Given the description of an element on the screen output the (x, y) to click on. 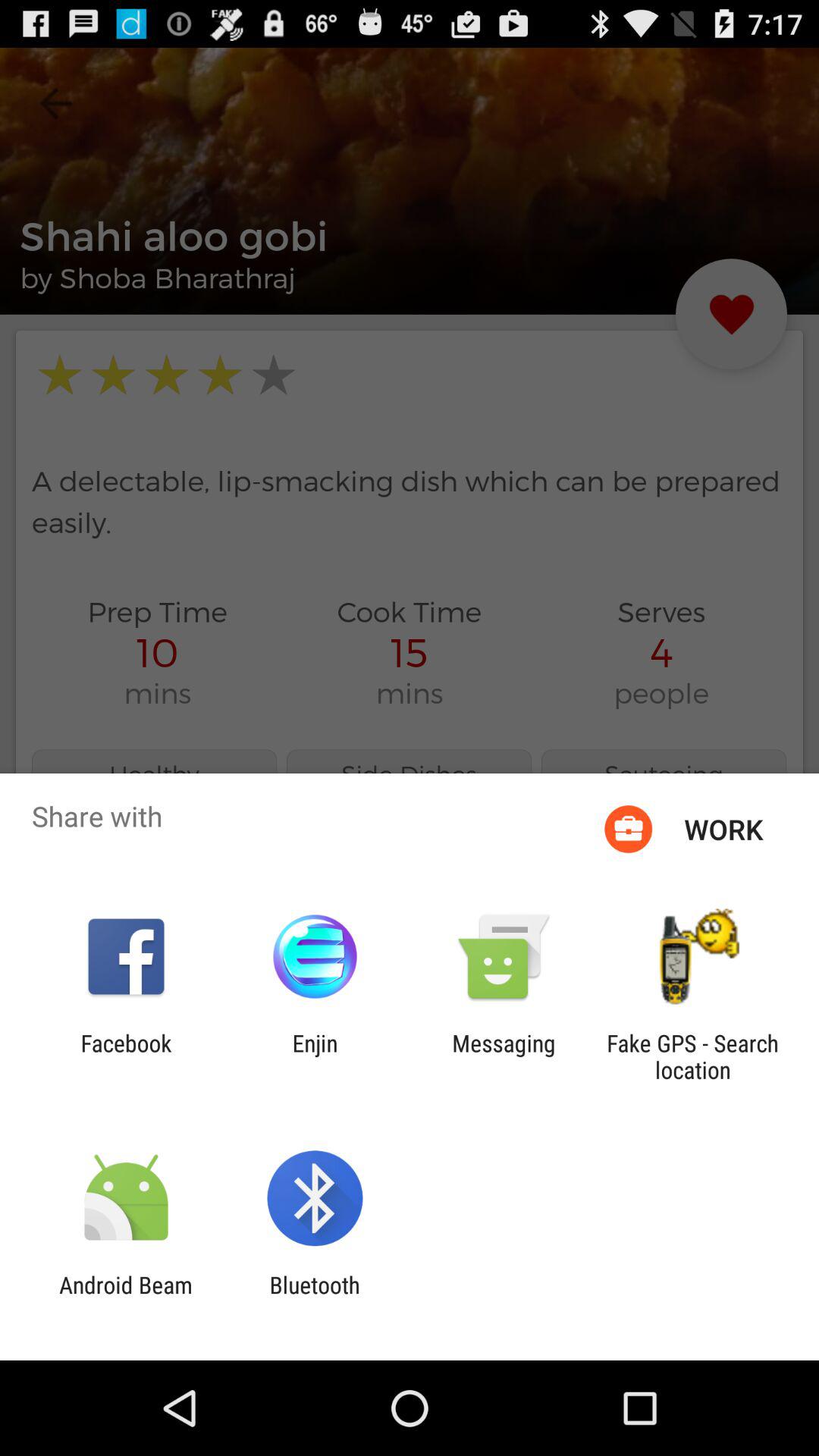
press app next to the enjin app (125, 1056)
